Given the description of an element on the screen output the (x, y) to click on. 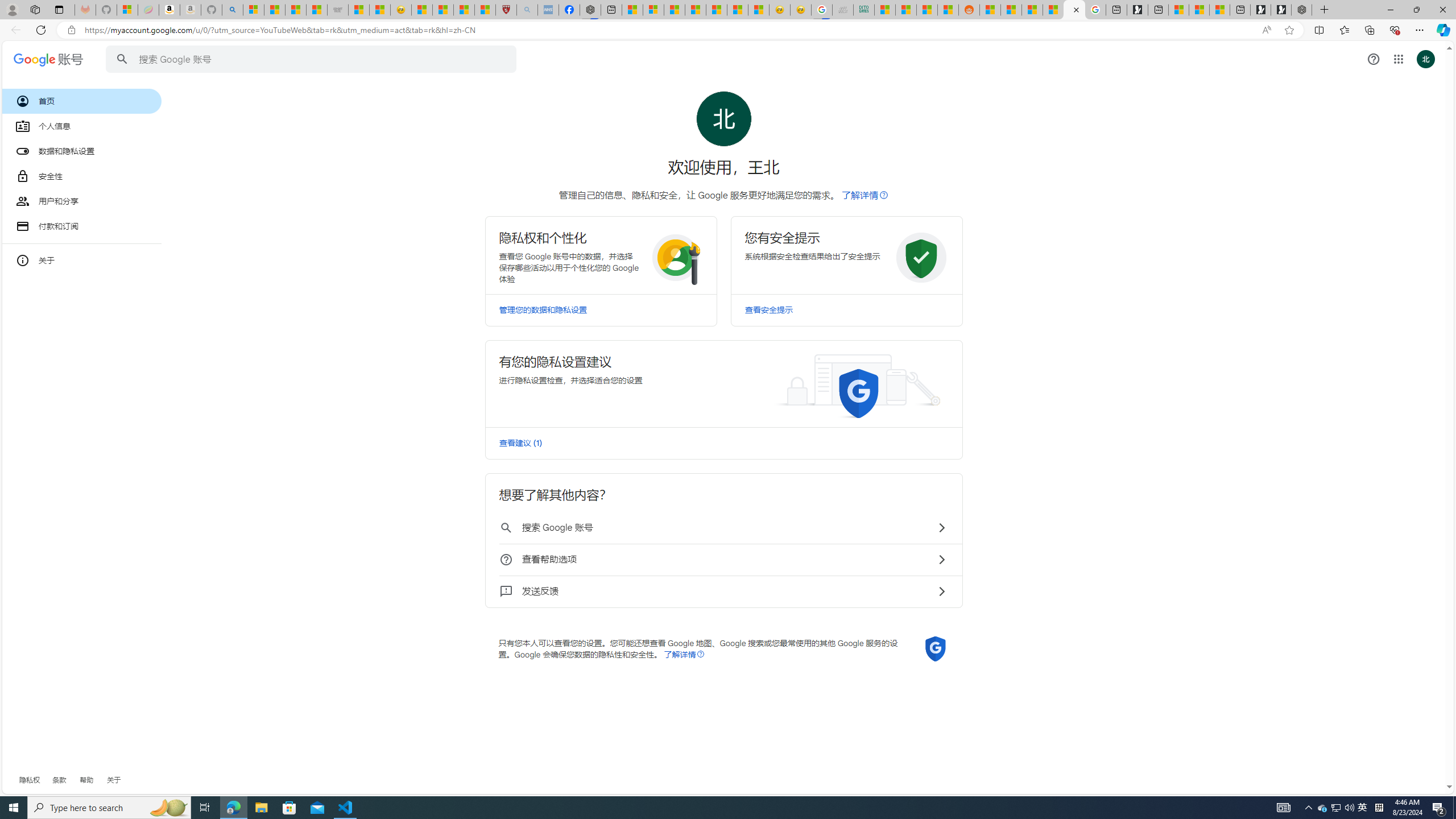
Fitness - MSN (716, 9)
Combat Siege (337, 9)
R******* | Trusted Community Engagement and Contributions (990, 9)
